Given the description of an element on the screen output the (x, y) to click on. 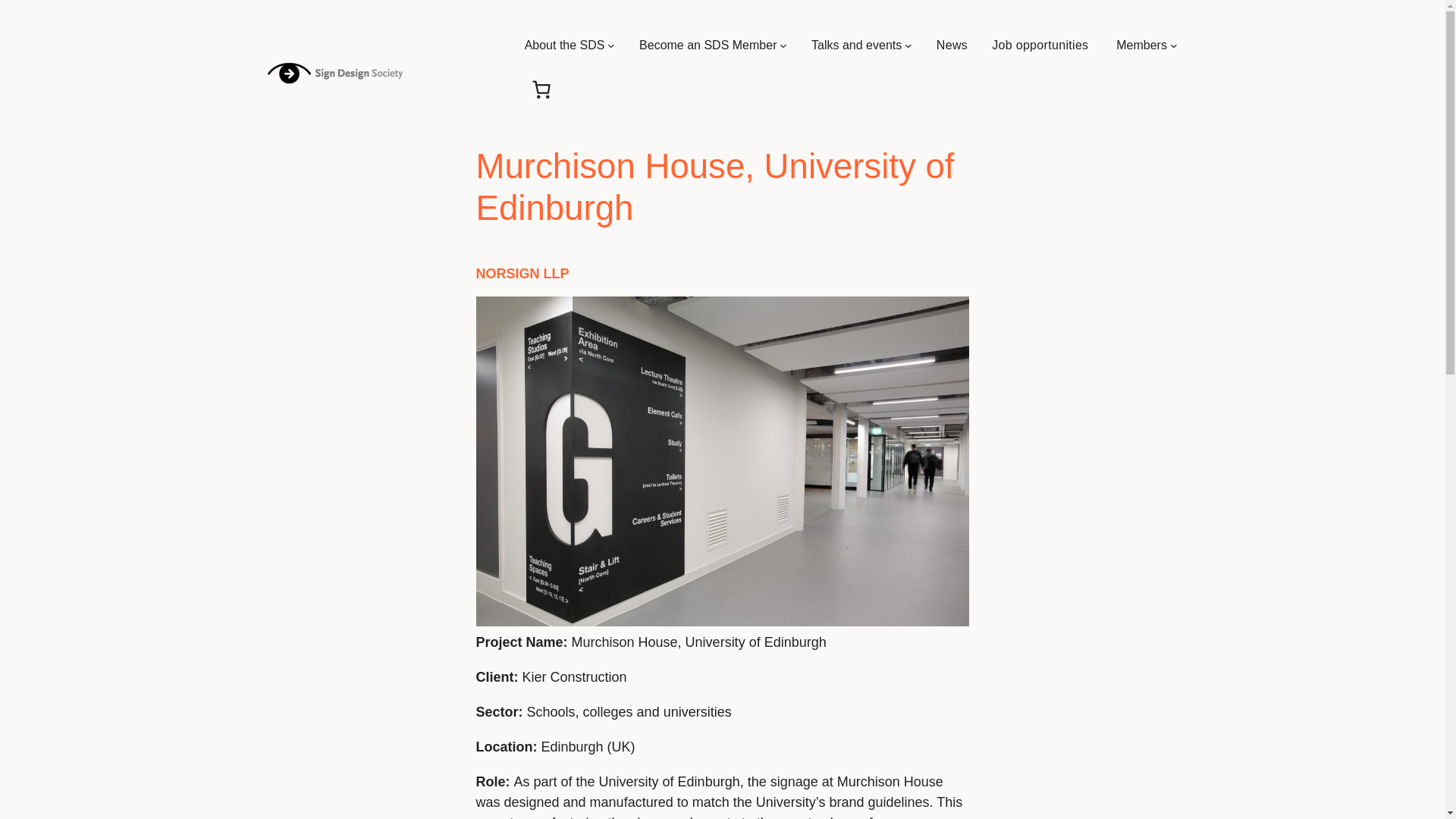
Job opportunities  (1041, 45)
About the SDS (564, 45)
Become an SDS Member (707, 45)
Talks and events (855, 45)
News (952, 45)
Members (1141, 45)
